Given the description of an element on the screen output the (x, y) to click on. 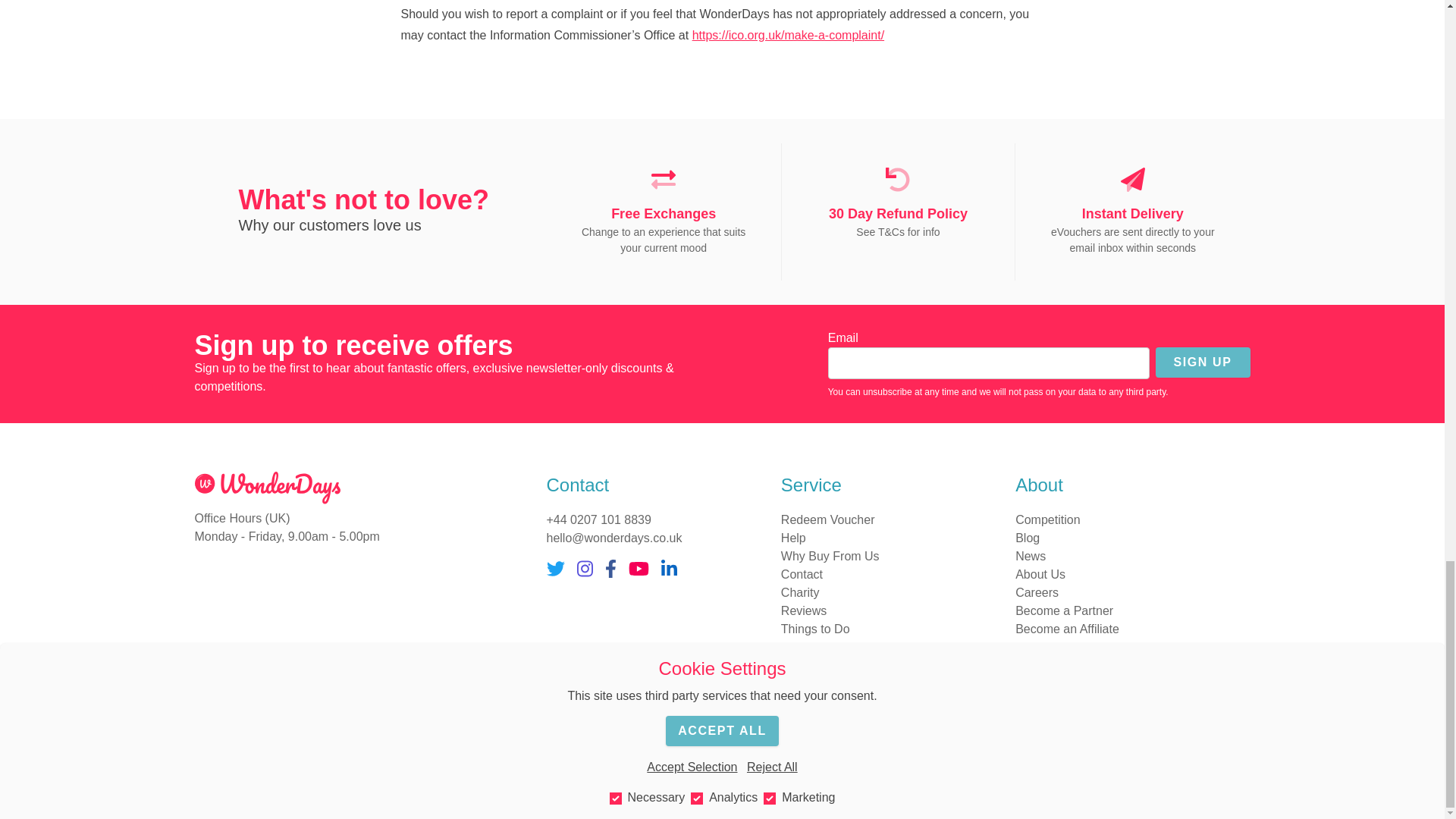
Sign Up (1203, 362)
